Given the description of an element on the screen output the (x, y) to click on. 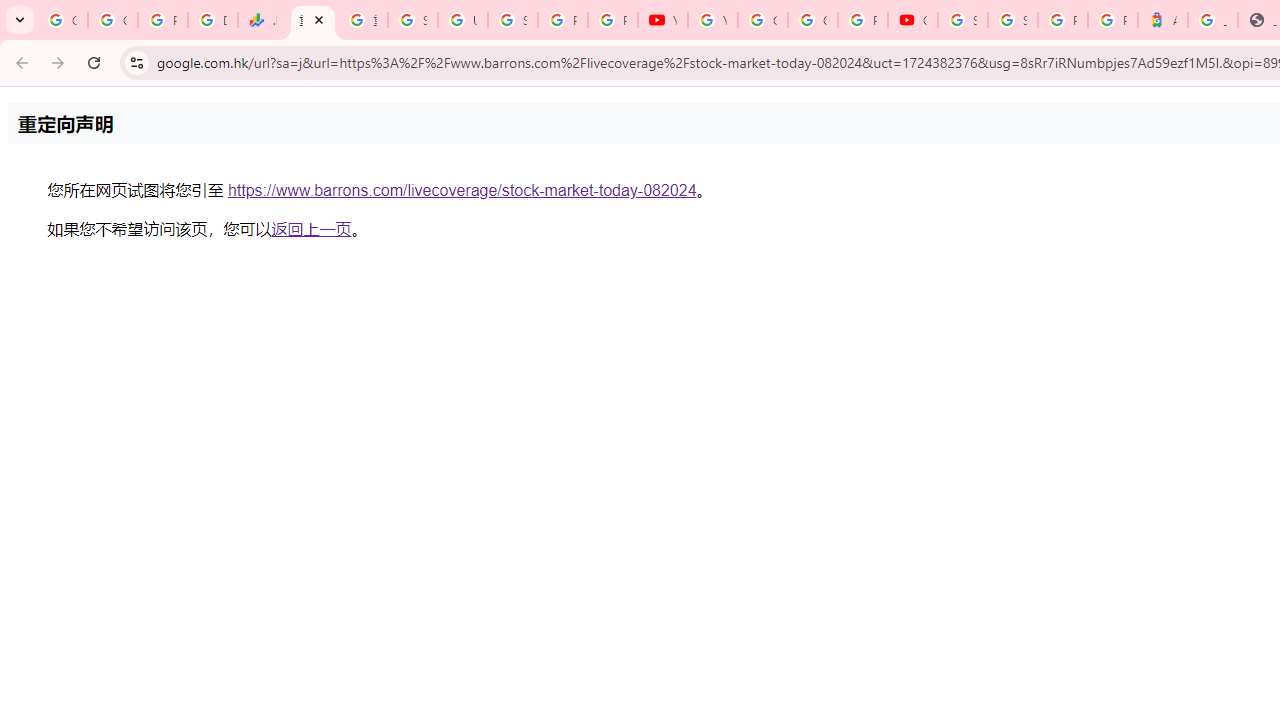
Sign in - Google Accounts (412, 20)
Content Creator Programs & Opportunities - YouTube Creators (913, 20)
